Given the description of an element on the screen output the (x, y) to click on. 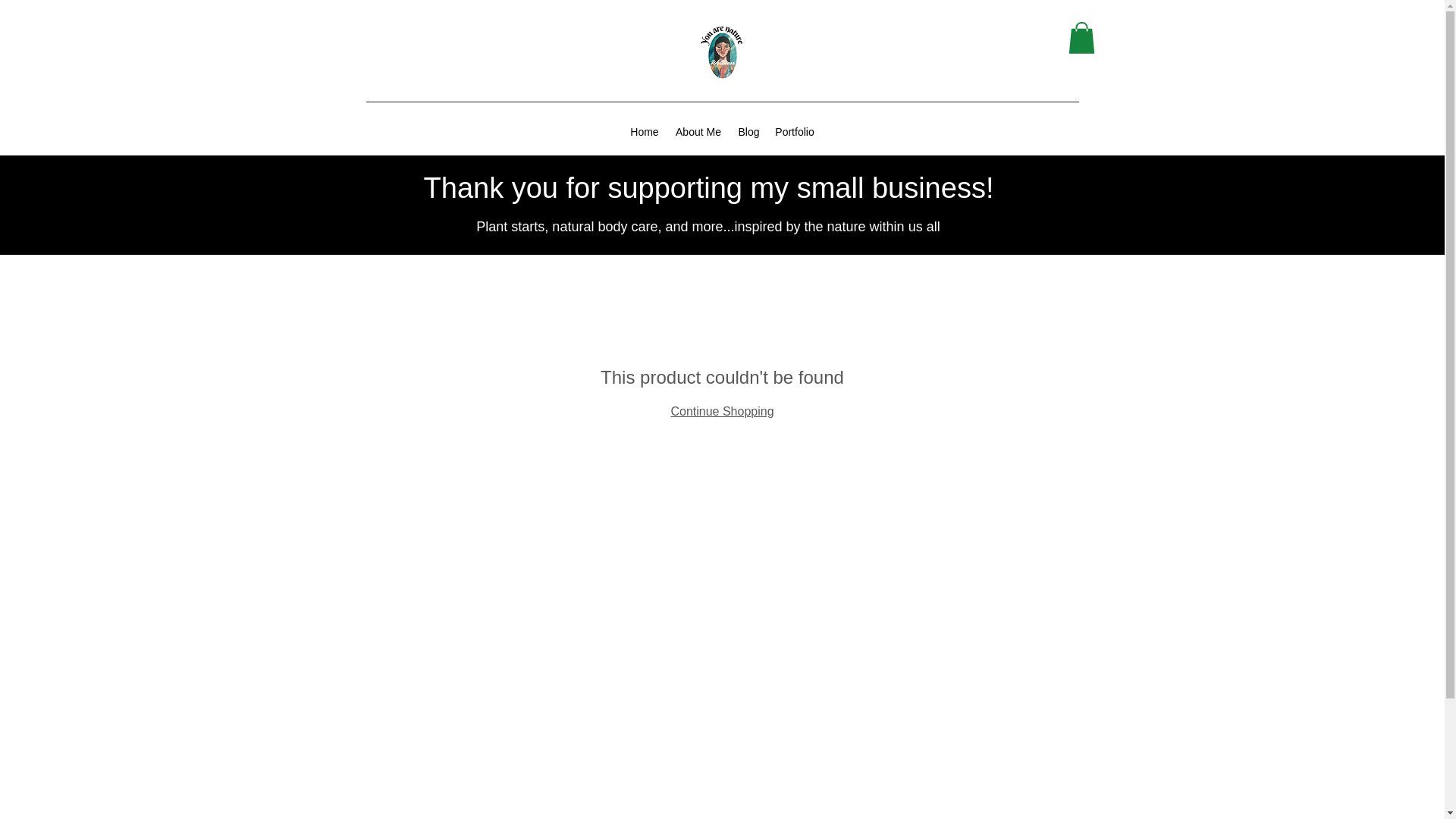
Portfolio (794, 131)
About Me (698, 131)
Continue Shopping (721, 410)
Blog (748, 131)
Home (644, 131)
